Given the description of an element on the screen output the (x, y) to click on. 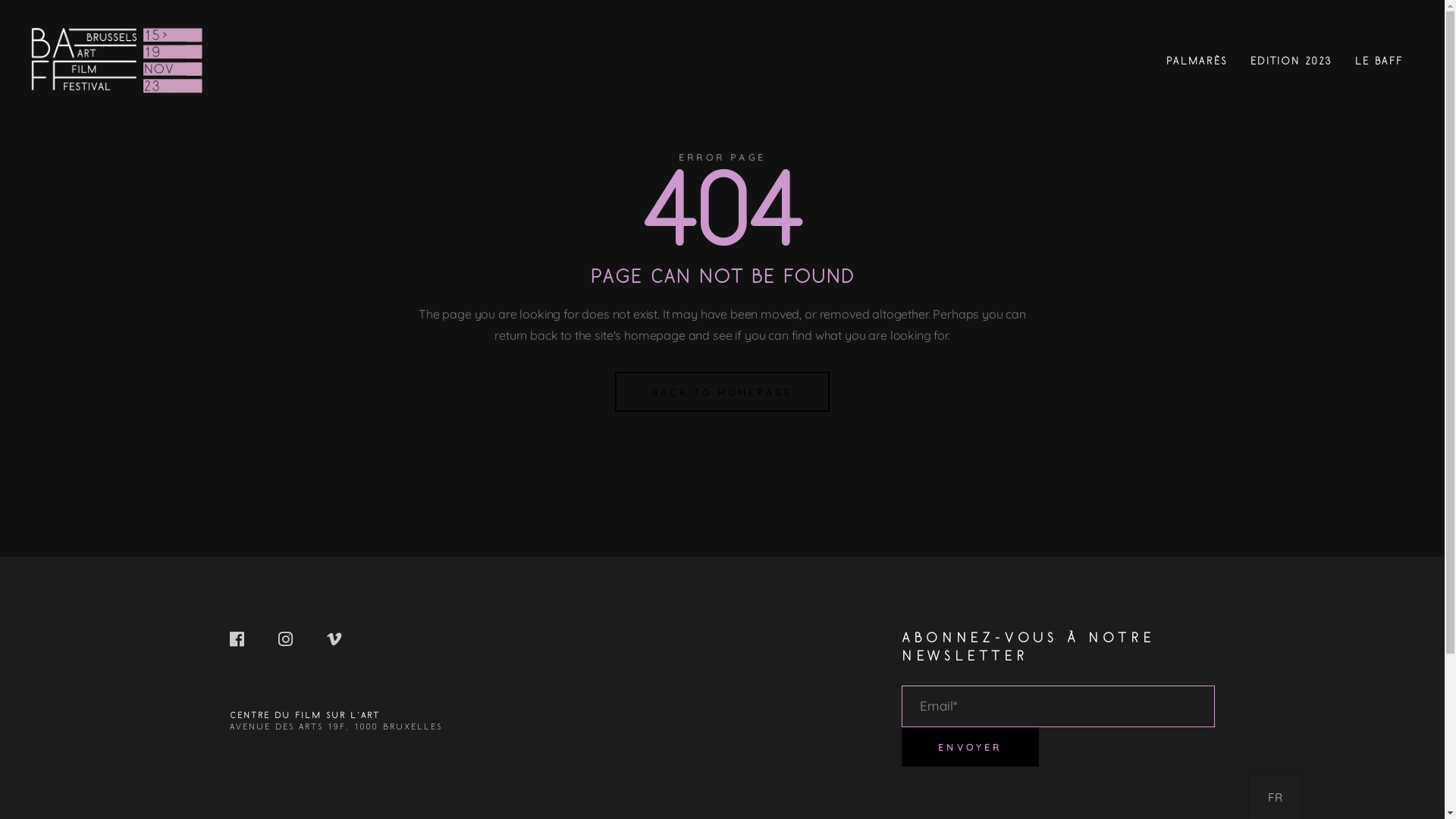
FR Element type: text (1274, 797)
BACK TO HOMEPAGE Element type: text (721, 391)
EDITION 2023 Element type: text (1291, 60)
LE BAFF Element type: text (1378, 60)
Envoyer Element type: text (969, 746)
